Given the description of an element on the screen output the (x, y) to click on. 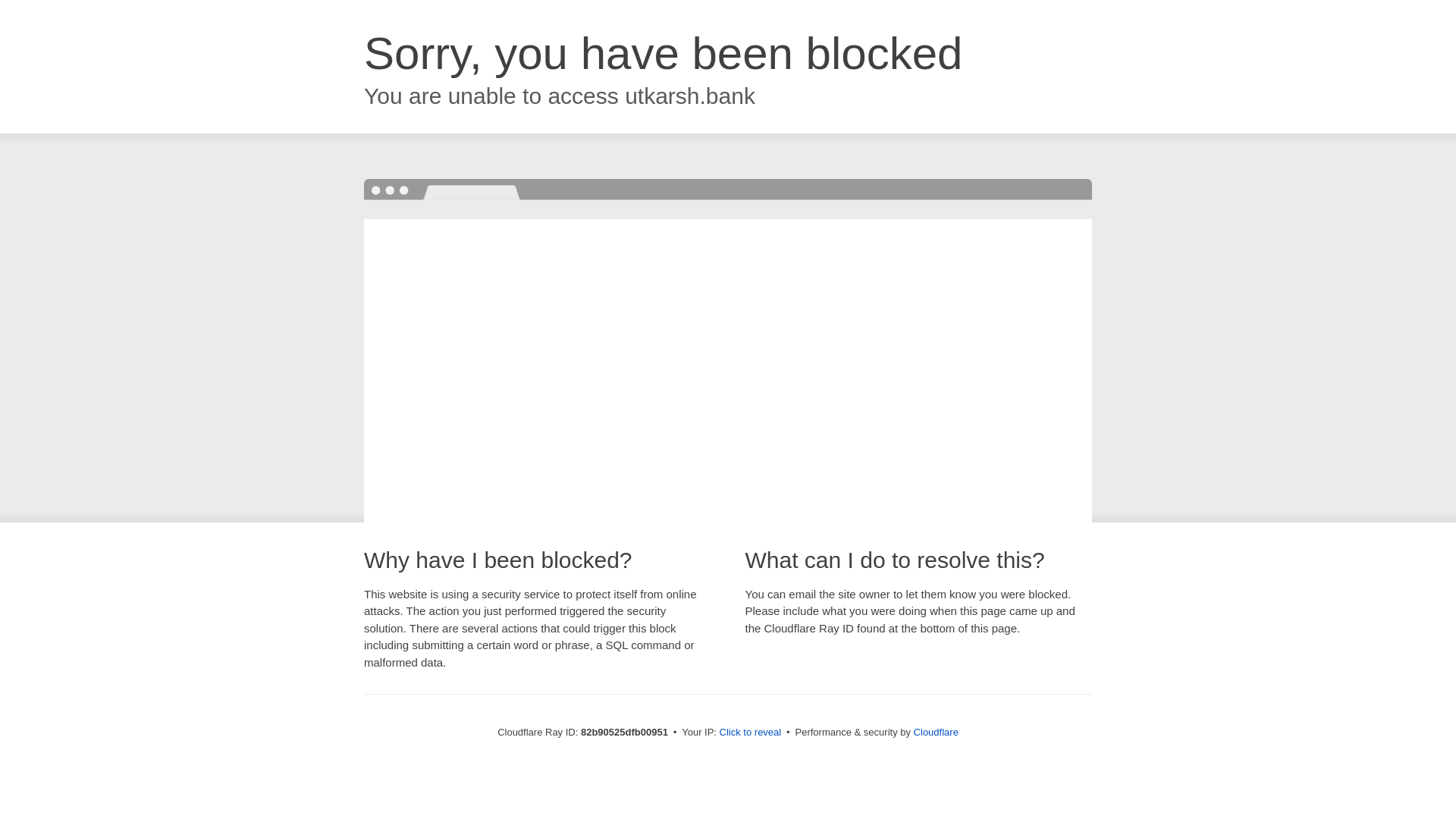
Cloudflare Element type: text (935, 731)
Click to reveal Element type: text (750, 732)
